Given the description of an element on the screen output the (x, y) to click on. 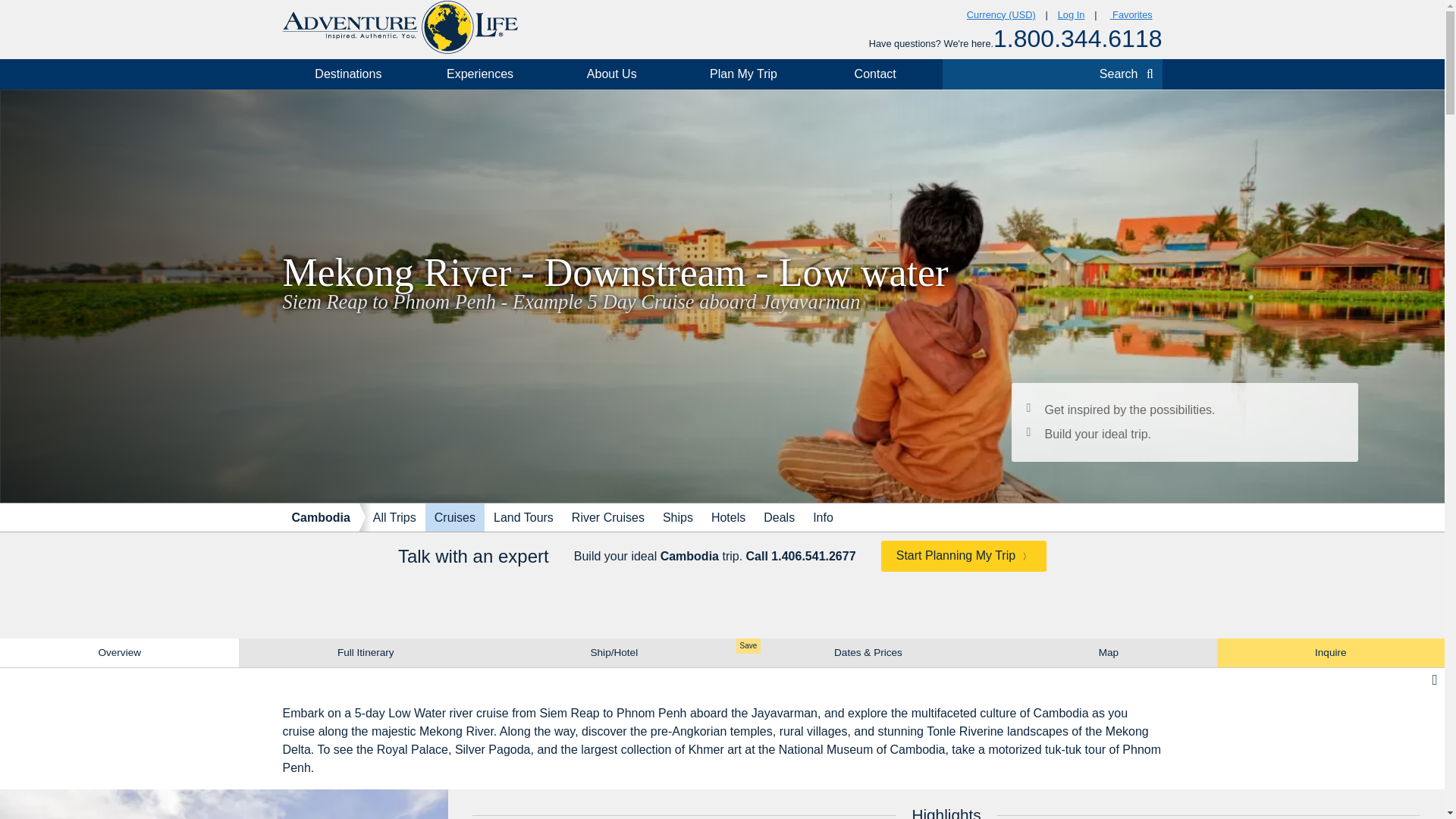
Adventure Life (399, 27)
Favorites (1128, 14)
1.800.344.6118 (1076, 38)
Log In (1071, 14)
Destinations (347, 73)
